Given the description of an element on the screen output the (x, y) to click on. 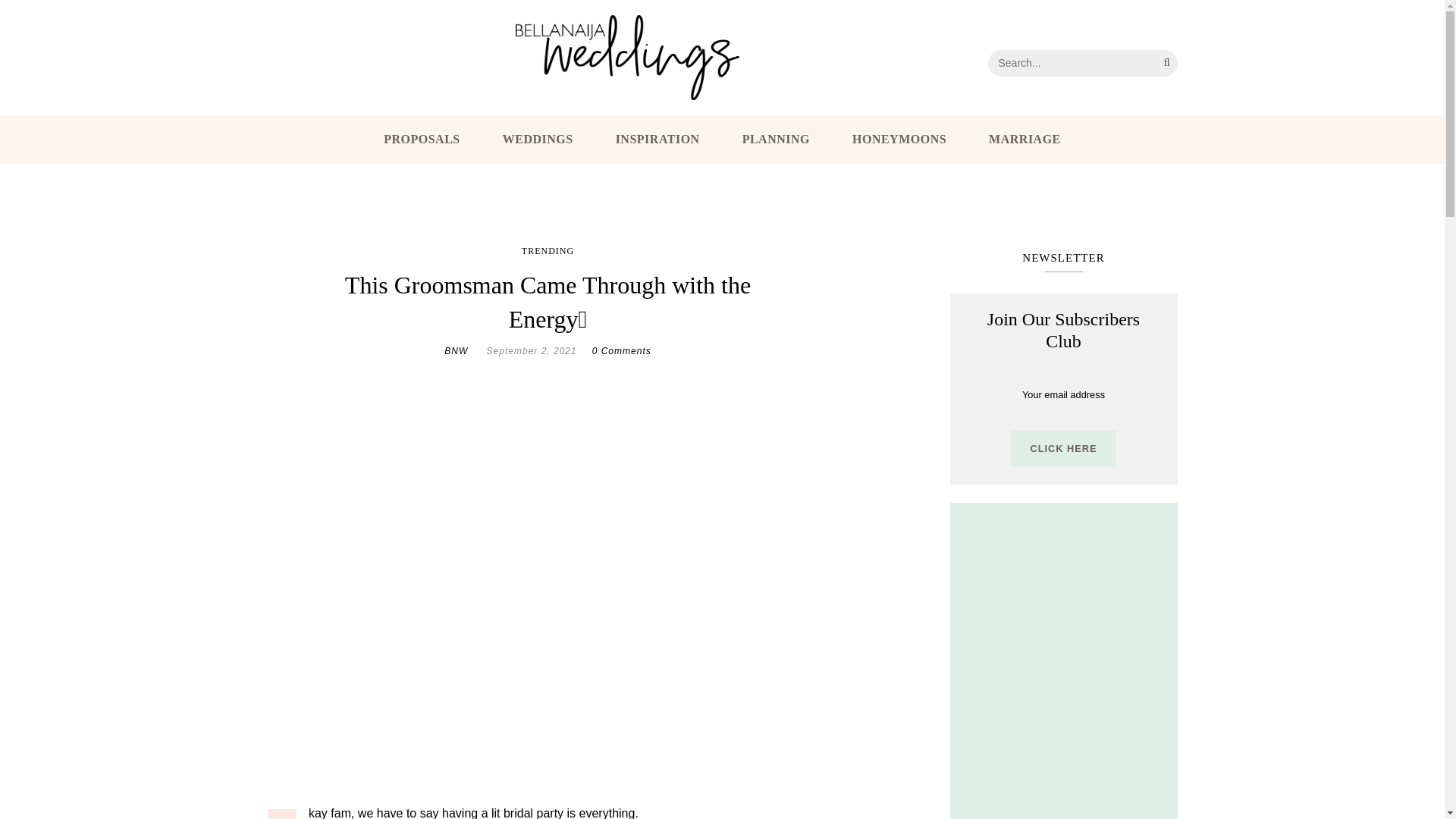
0 Comments (621, 350)
MARRIAGE (1024, 139)
PROPOSALS (422, 139)
Click Here (1063, 448)
Posts by BNW (455, 350)
HONEYMOONS (898, 139)
TRENDING (547, 251)
Click Here (1063, 448)
INSPIRATION (657, 139)
BNW (455, 350)
PLANNING (775, 139)
WEDDINGS (537, 139)
